Given the description of an element on the screen output the (x, y) to click on. 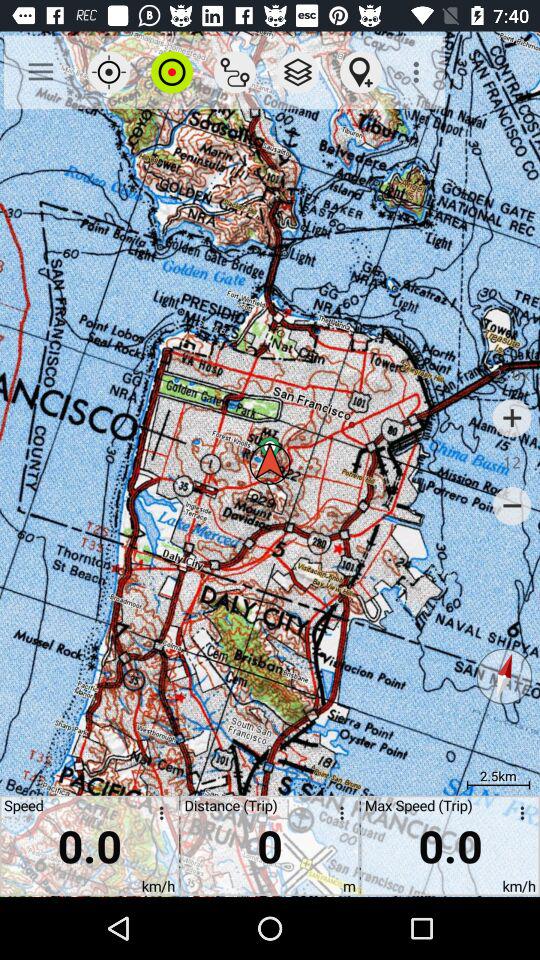
launch the item above the 0.0 (171, 71)
